Given the description of an element on the screen output the (x, y) to click on. 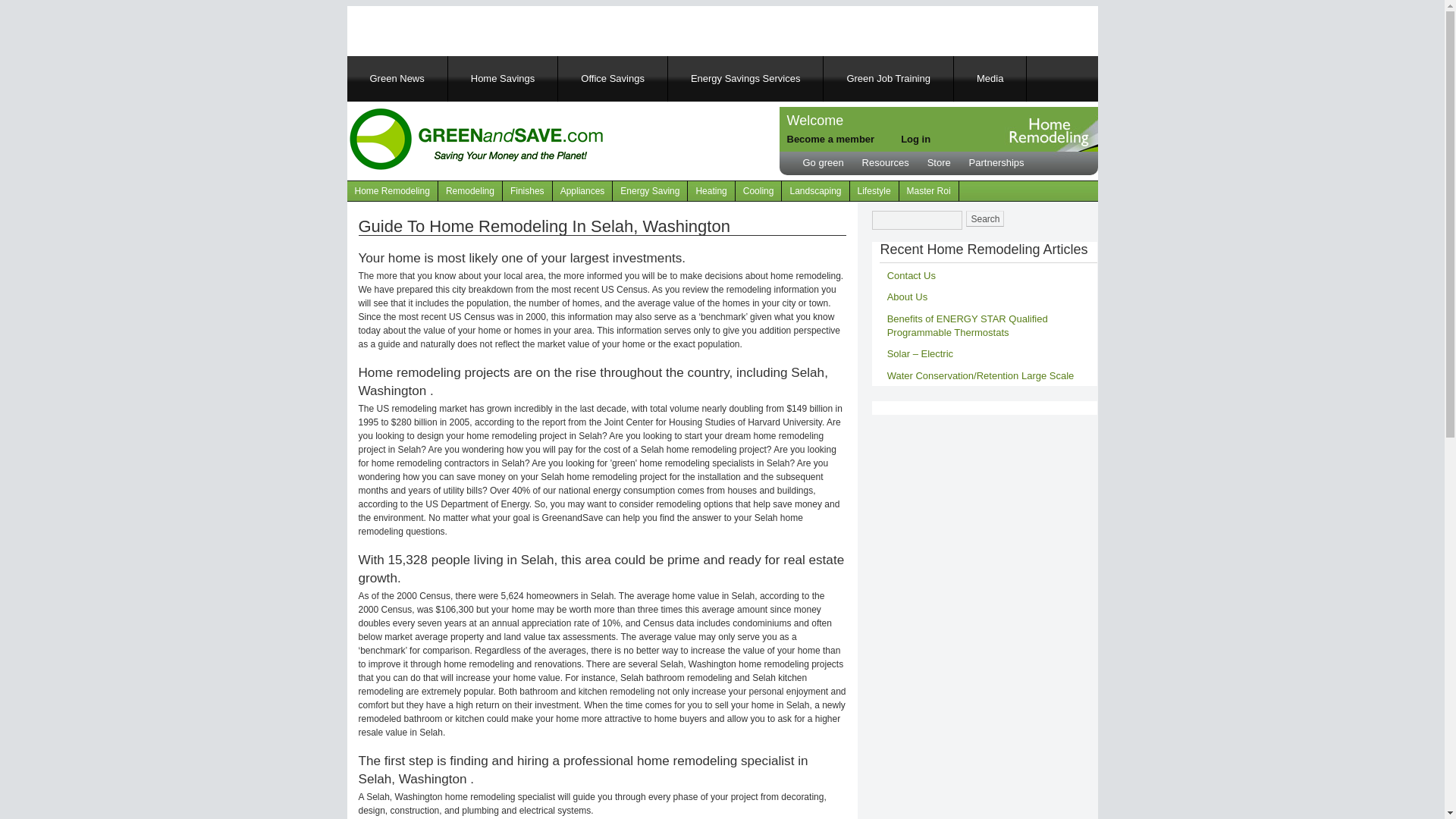
Green News (397, 78)
Home (475, 140)
Search (985, 218)
Search (985, 218)
Energy Savings Services (745, 78)
Green Job Training (887, 78)
Remodeling (470, 190)
Heating (711, 190)
Partnerships (997, 162)
Home Savings (502, 78)
Log in (915, 138)
Appliances (582, 190)
Finishes (527, 190)
Office Savings (612, 78)
Advertisement (539, 28)
